Given the description of an element on the screen output the (x, y) to click on. 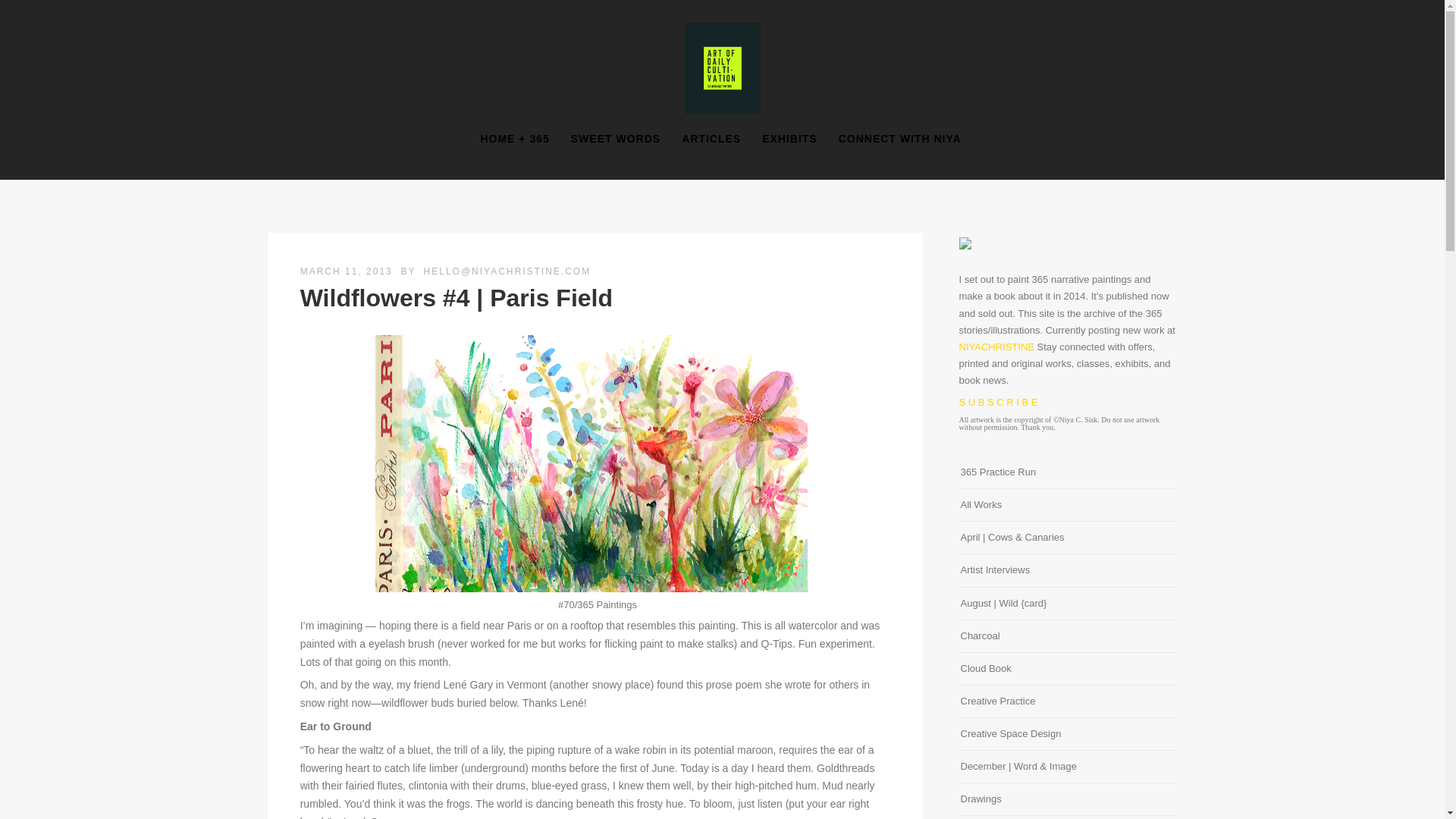
EXHIBITS (789, 138)
SWEET WORDS (615, 138)
ARTICLES (711, 138)
CONNECT WITH NIYA (900, 138)
